Given the description of an element on the screen output the (x, y) to click on. 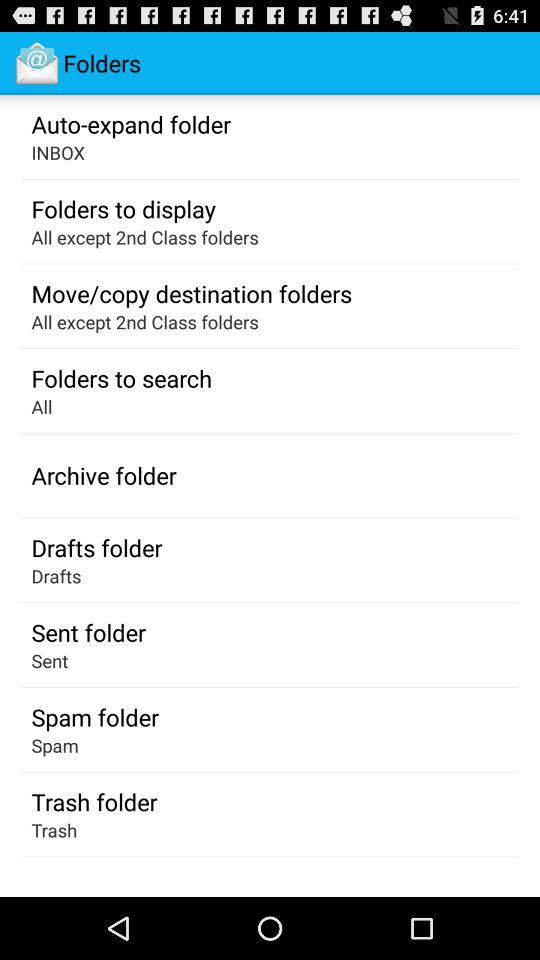
tap the icon above the folders to display icon (58, 151)
